Given the description of an element on the screen output the (x, y) to click on. 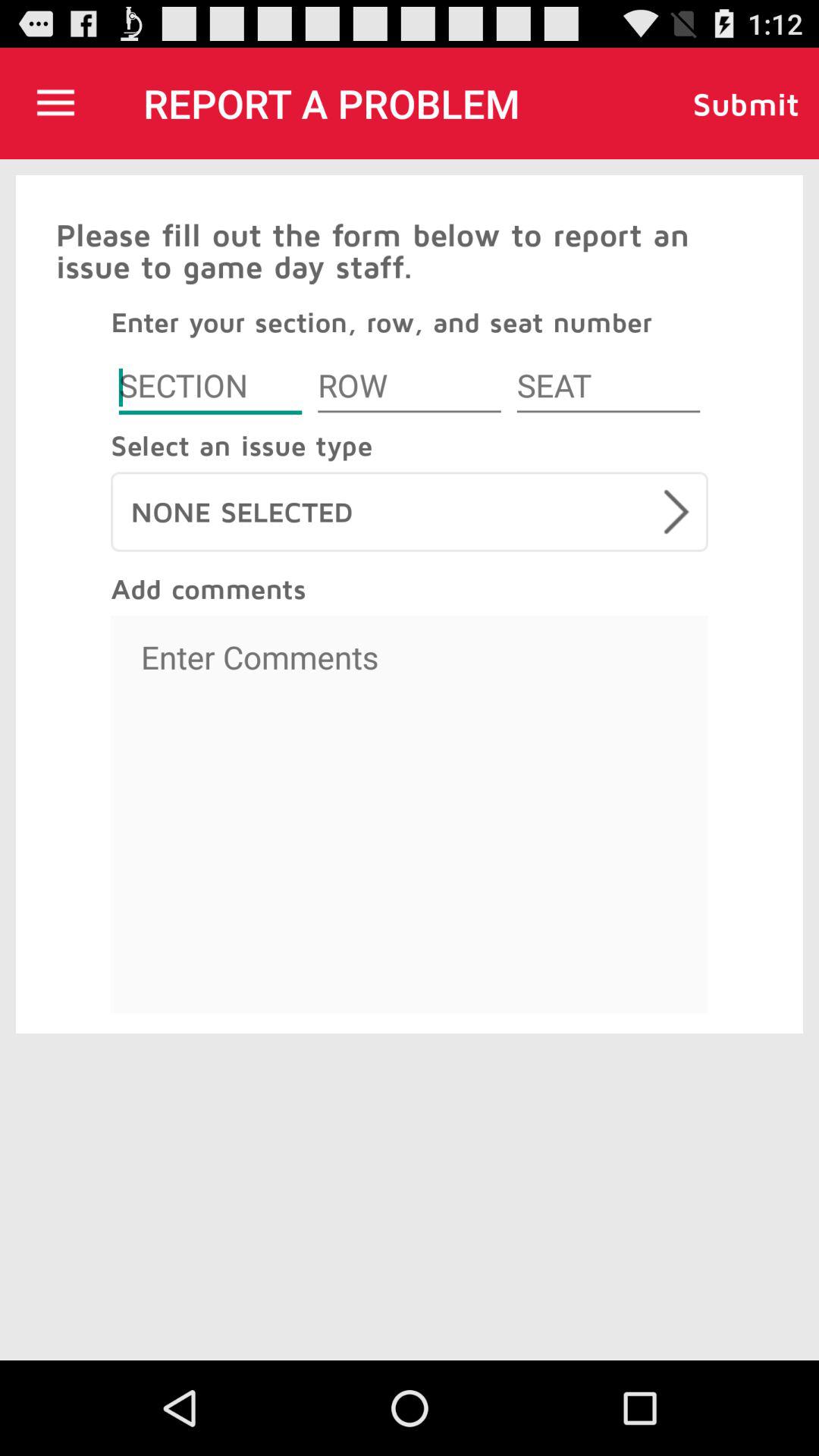
dialog box (209, 388)
